Given the description of an element on the screen output the (x, y) to click on. 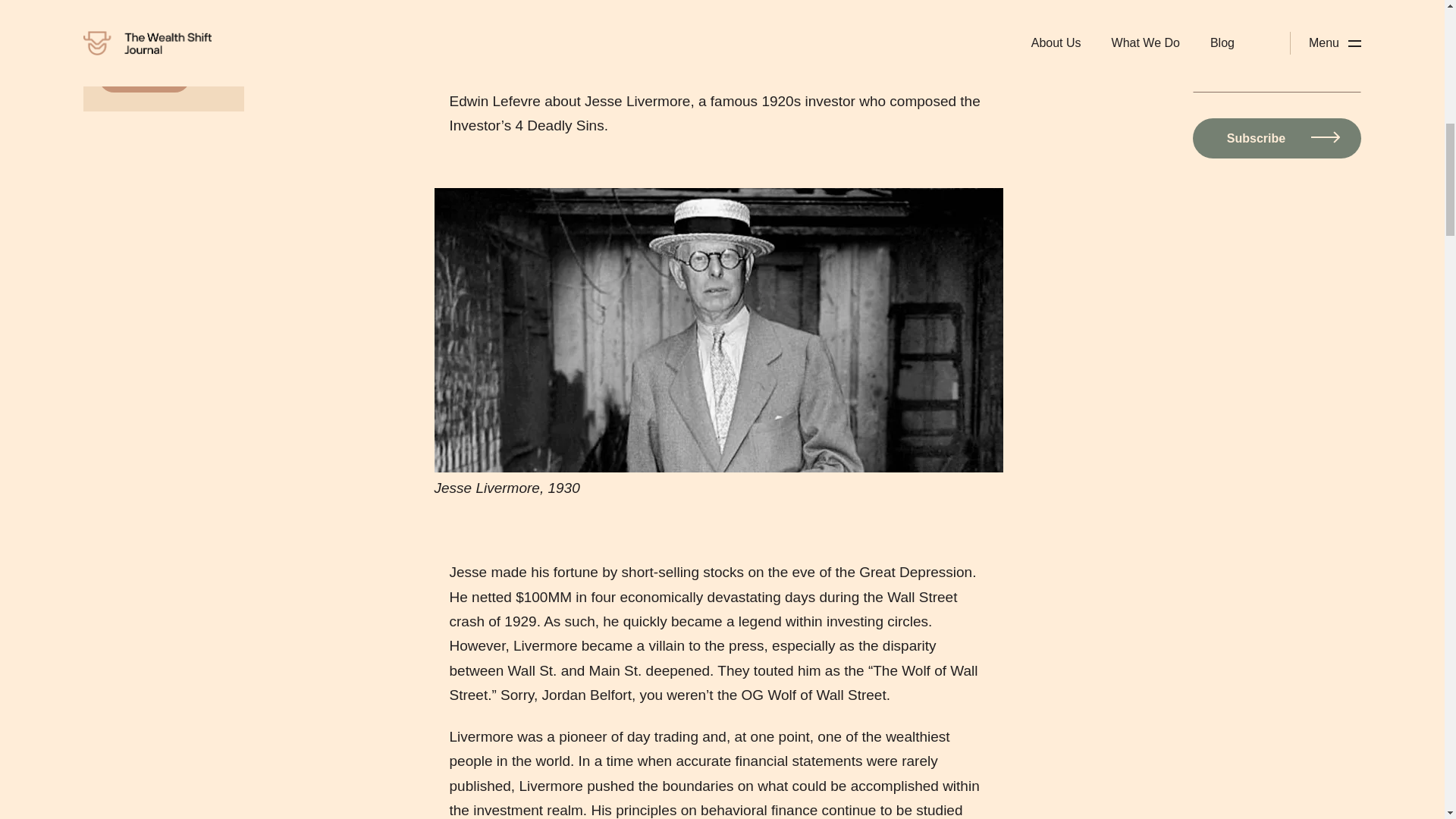
Subscribe (1276, 137)
Subscribe (1276, 137)
Reminiscences of a Stock Operator (801, 76)
Download eBook (922, 173)
Learn More (144, 76)
